Given the description of an element on the screen output the (x, y) to click on. 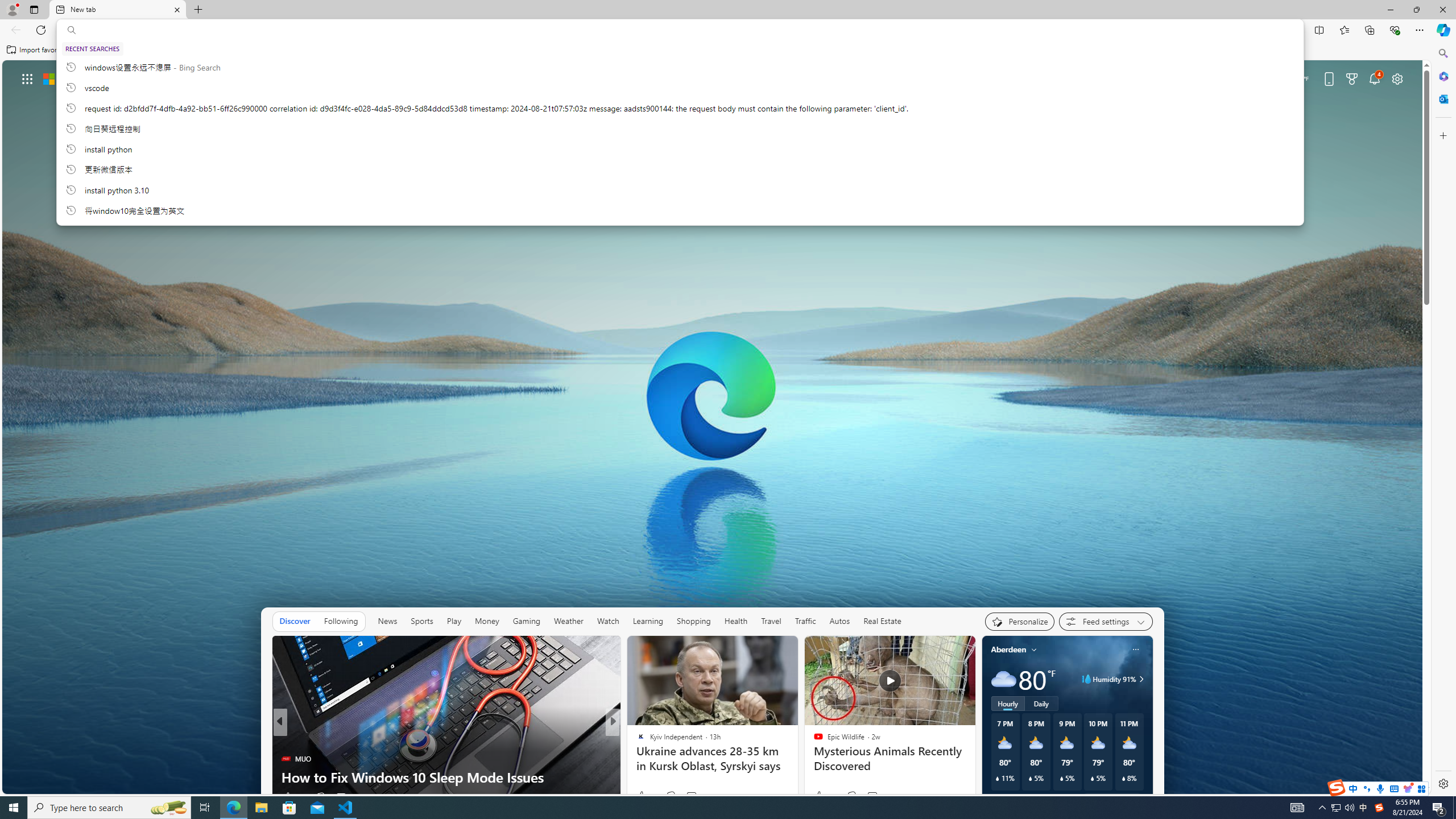
Gaming (526, 621)
Microsoft start (81, 78)
226 Like (643, 796)
View comments 175 Comment (687, 797)
Feed settings (1105, 621)
Favorites bar (715, 49)
View comments 2 Comment (344, 796)
